Given the description of an element on the screen output the (x, y) to click on. 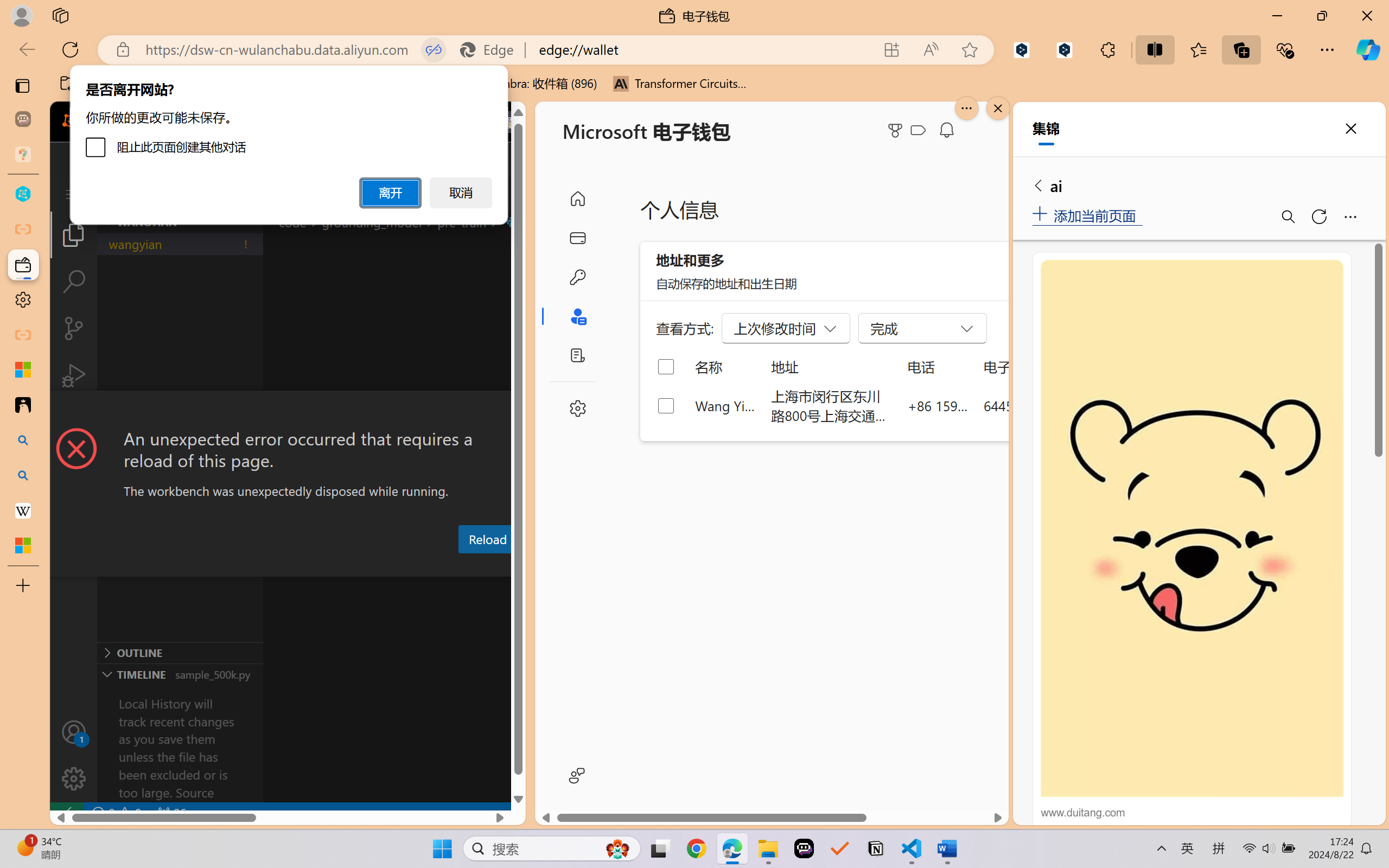
Microsoft Cashback (920, 130)
Class: ___1lmltc5 f1agt3bx f12qytpq (917, 130)
Google Chrome (696, 848)
Run and Debug (Ctrl+Shift+D) (73, 375)
644553698@qq.com (1043, 405)
Earth - Wikipedia (22, 510)
